Given the description of an element on the screen output the (x, y) to click on. 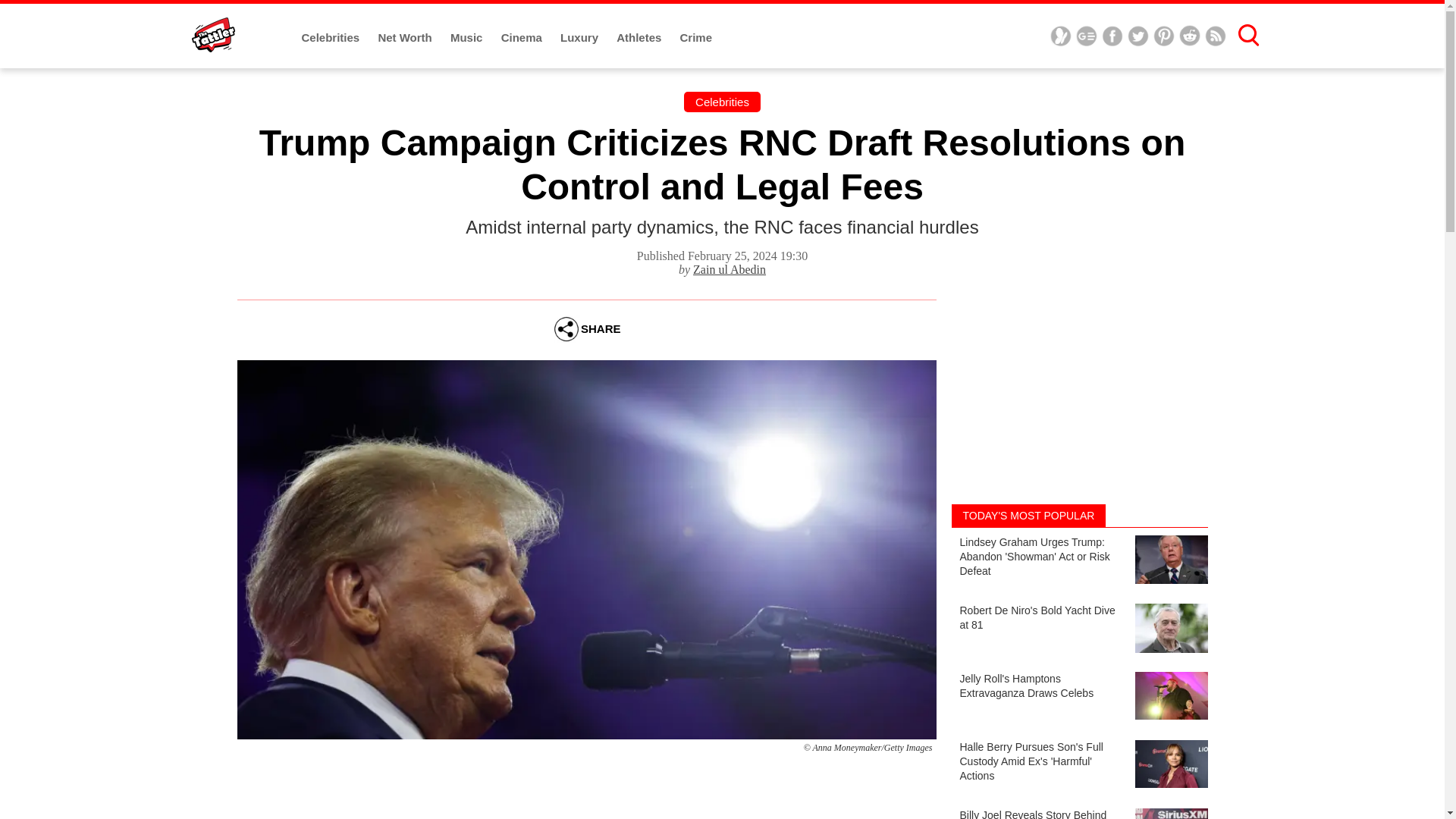
Crime (696, 37)
Cinema (522, 37)
Celebrities (331, 37)
Celebrities (722, 101)
Net Worth (406, 37)
Zain ul Abedin (729, 269)
Music (467, 37)
Luxury (580, 37)
Athletes (639, 37)
